Given the description of an element on the screen output the (x, y) to click on. 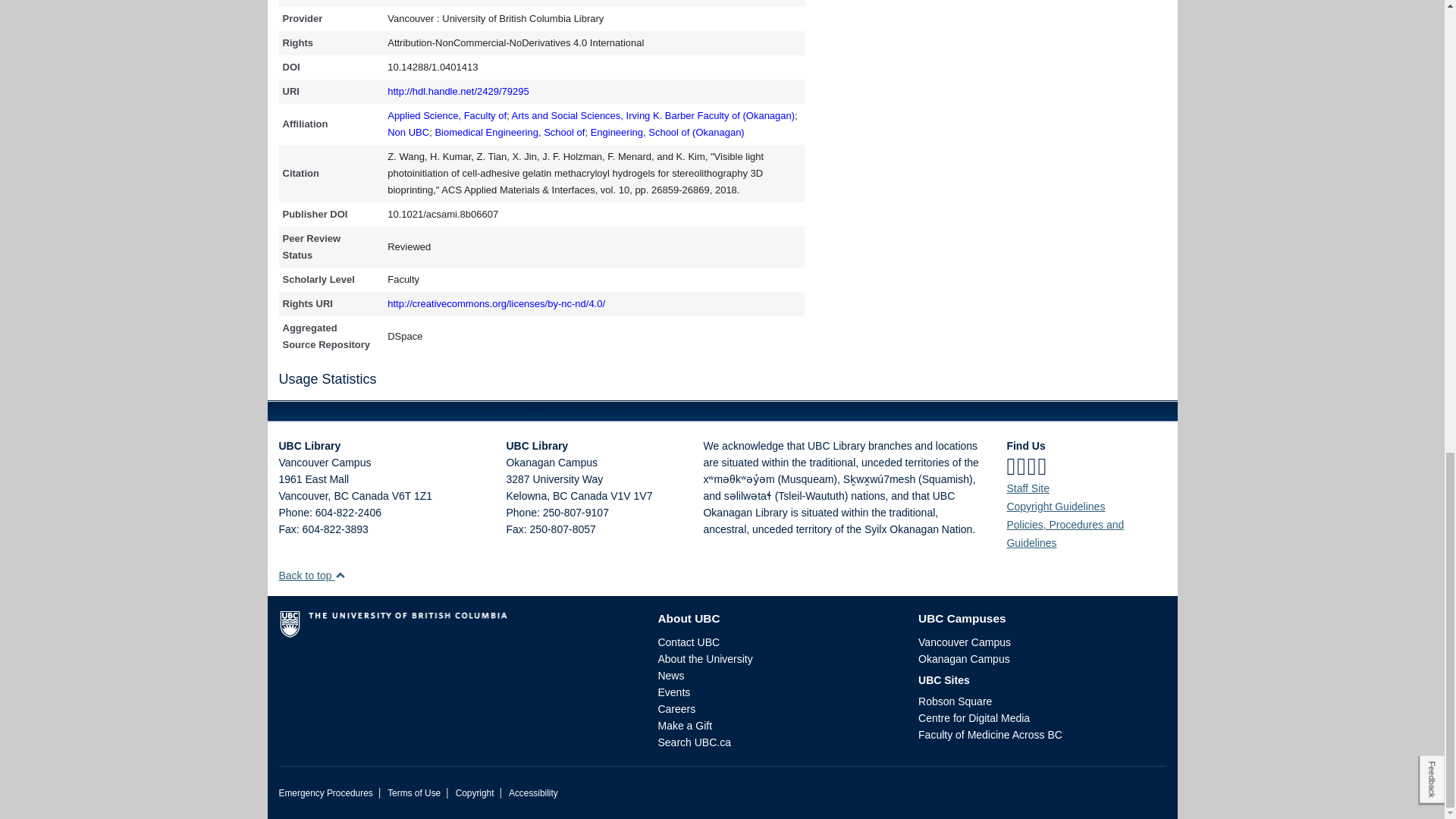
British Columbia (560, 495)
British Columbia (340, 495)
Instagram icon (1031, 466)
Facebook icon (1010, 466)
Twitter icon (1021, 466)
Youtube icon (1041, 466)
